Given the description of an element on the screen output the (x, y) to click on. 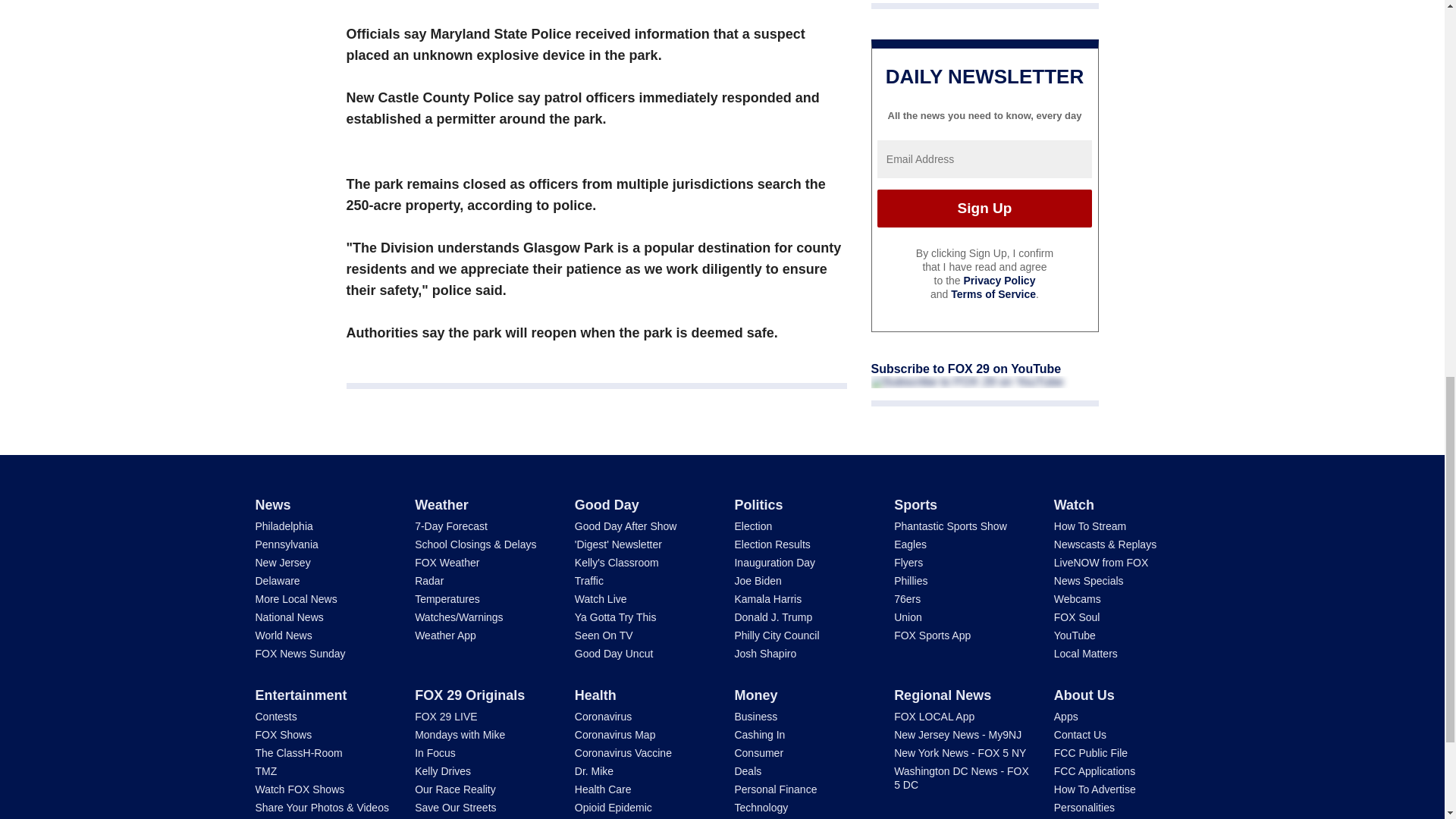
Sign Up (984, 208)
